Given the description of an element on the screen output the (x, y) to click on. 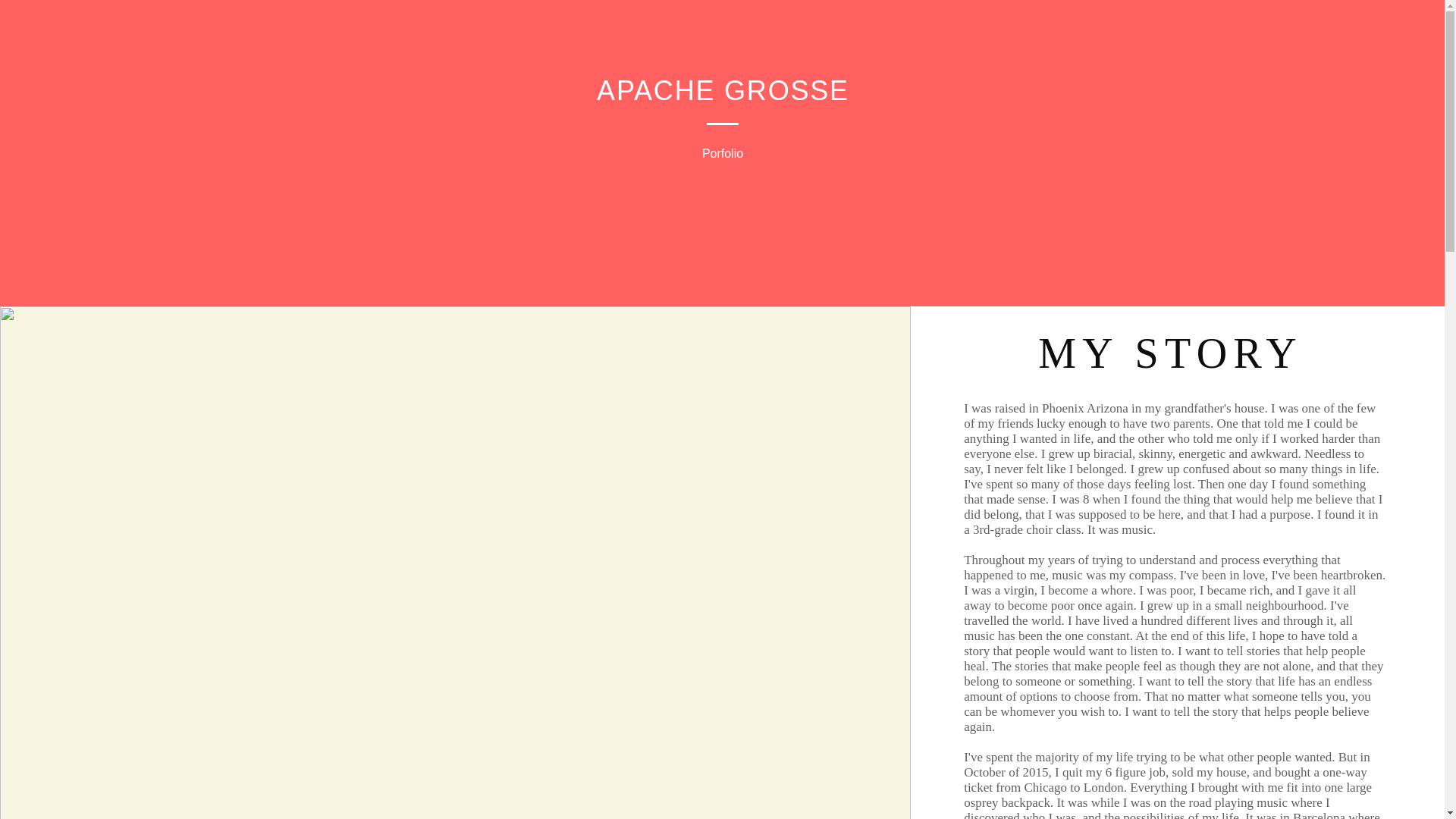
MUSIC (502, 62)
LIFE AFTER HER (718, 62)
VIDEO (601, 62)
Contact (937, 62)
PRESS (836, 62)
